Given the description of an element on the screen output the (x, y) to click on. 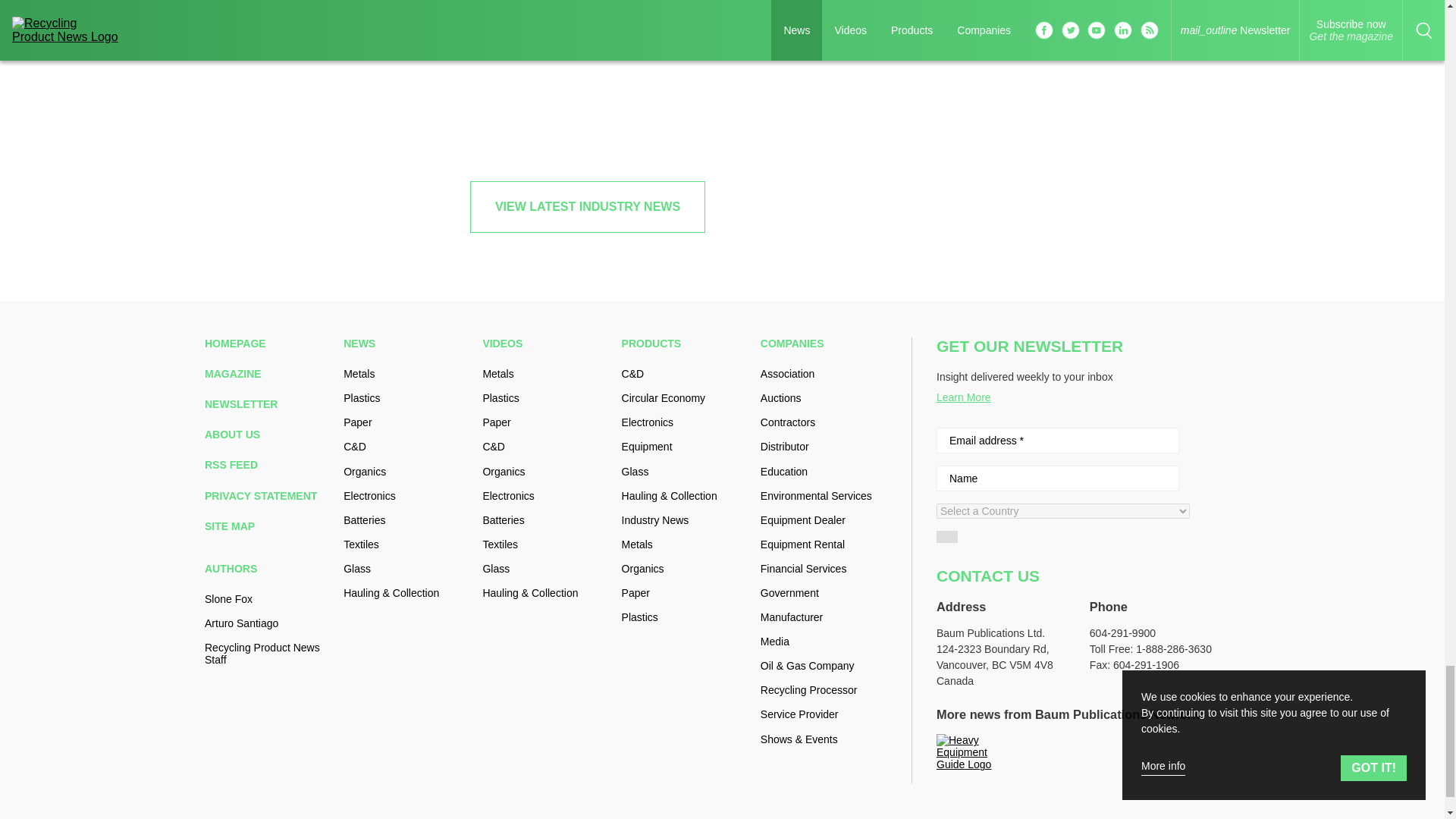
SITE MAP (268, 526)
Slone Fox (268, 598)
MAGAZINE (268, 373)
VIEW LATEST INDUSTRY NEWS (587, 206)
RSS FEED (268, 464)
ABOUT US (268, 434)
PRIVACY STATEMENT (268, 495)
NEWSLETTER (268, 404)
HOMEPAGE (268, 343)
